Given the description of an element on the screen output the (x, y) to click on. 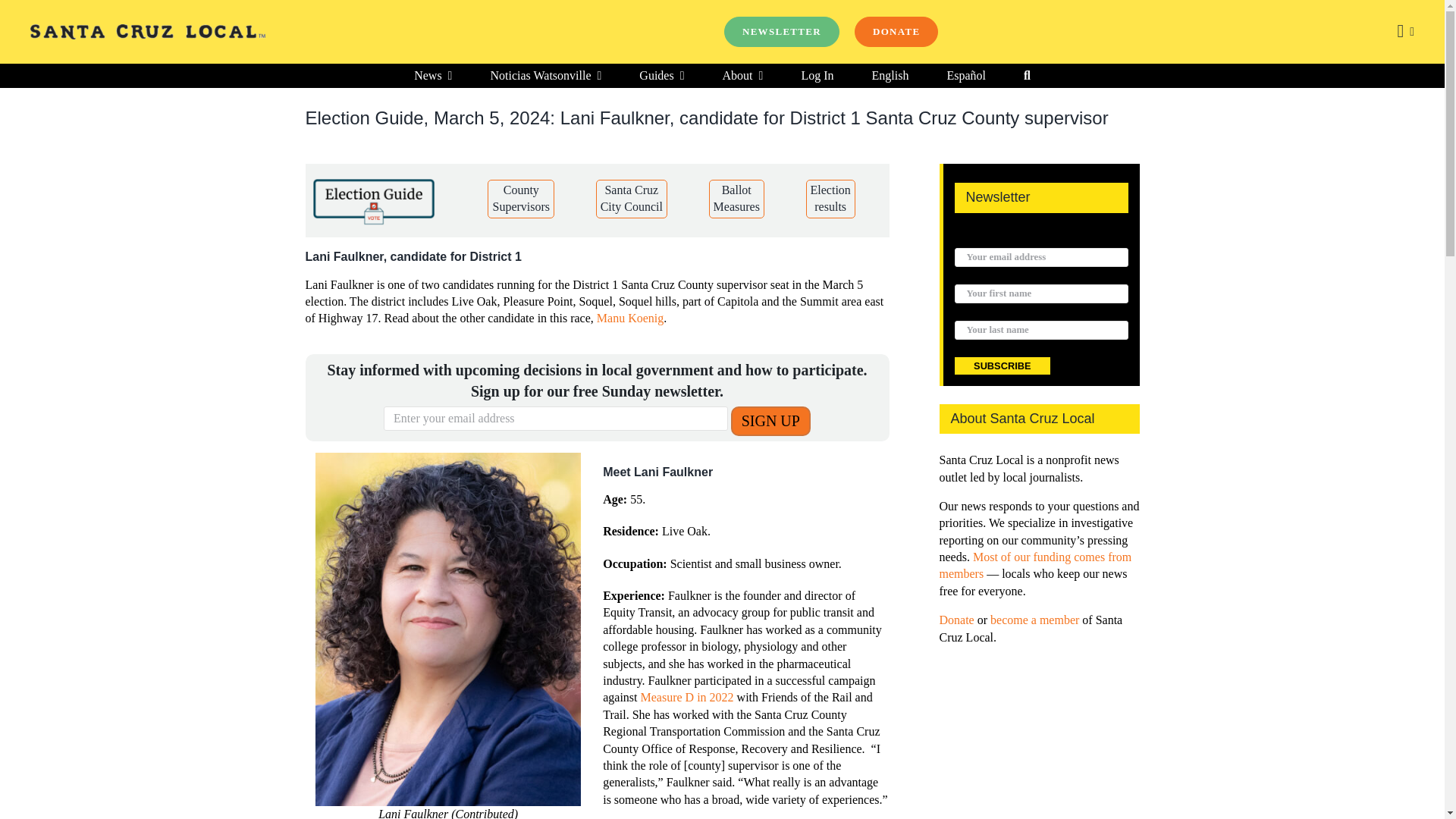
SIGN UP (770, 420)
DONATE (895, 31)
NEWSLETTER (781, 31)
English (889, 75)
News (432, 75)
